Given the description of an element on the screen output the (x, y) to click on. 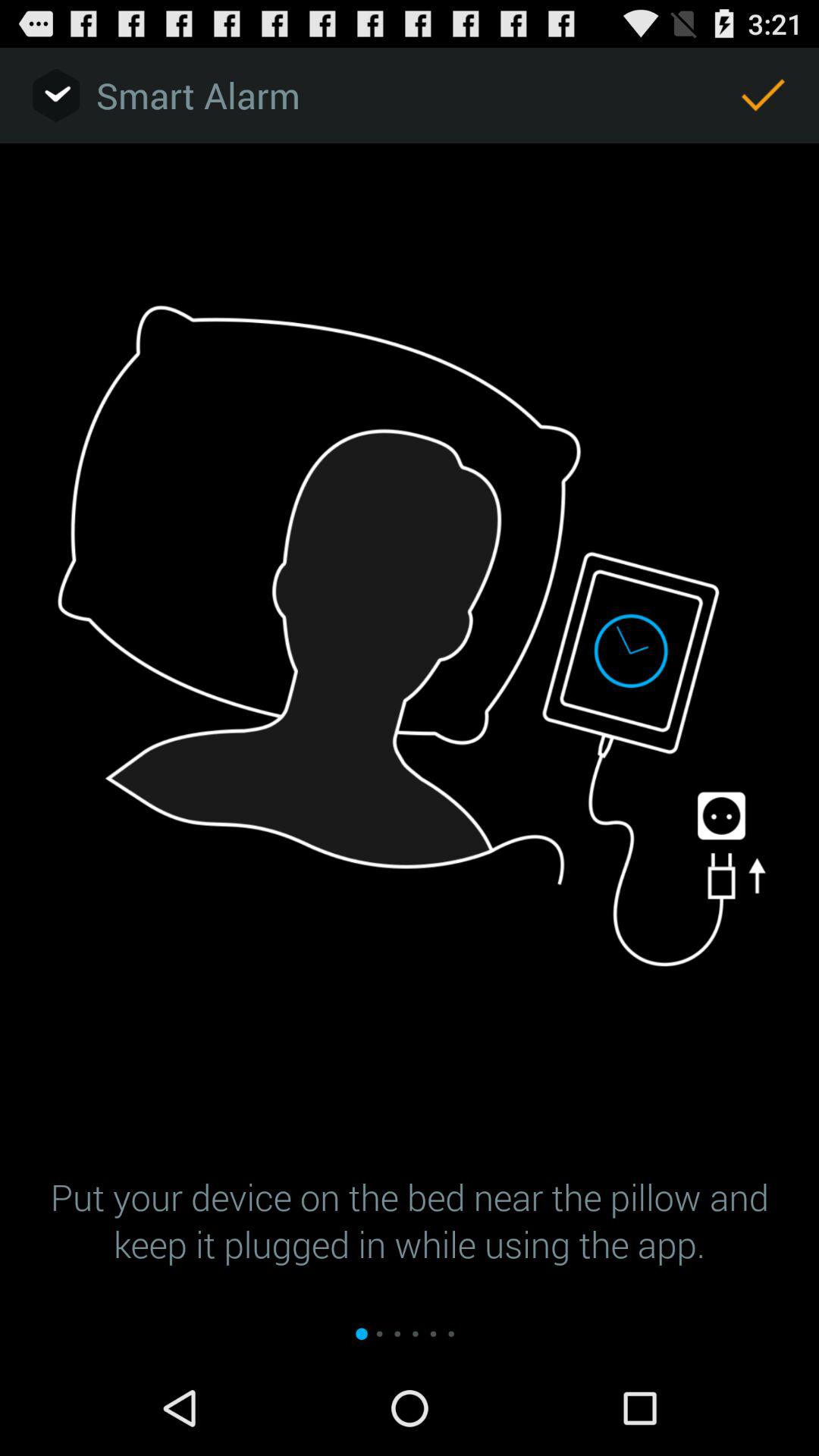
tap the item next to the smart alarm item (763, 95)
